Given the description of an element on the screen output the (x, y) to click on. 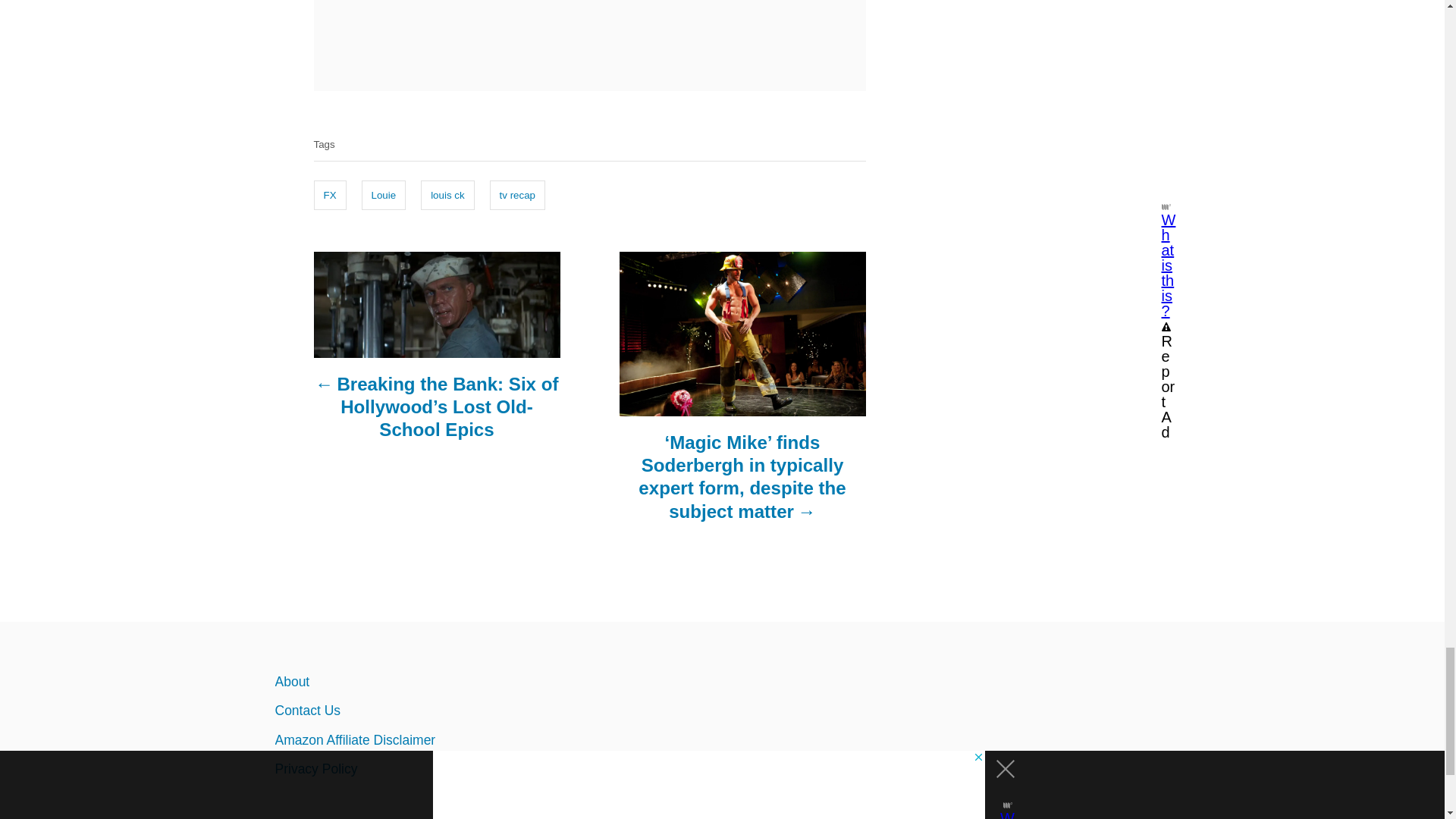
Privacy Policy (406, 768)
tv recap (516, 195)
louis ck (447, 195)
About (406, 681)
FX (330, 195)
Louie (383, 195)
Amazon Affiliate Disclaimer (406, 739)
Contact Us (406, 710)
